Given the description of an element on the screen output the (x, y) to click on. 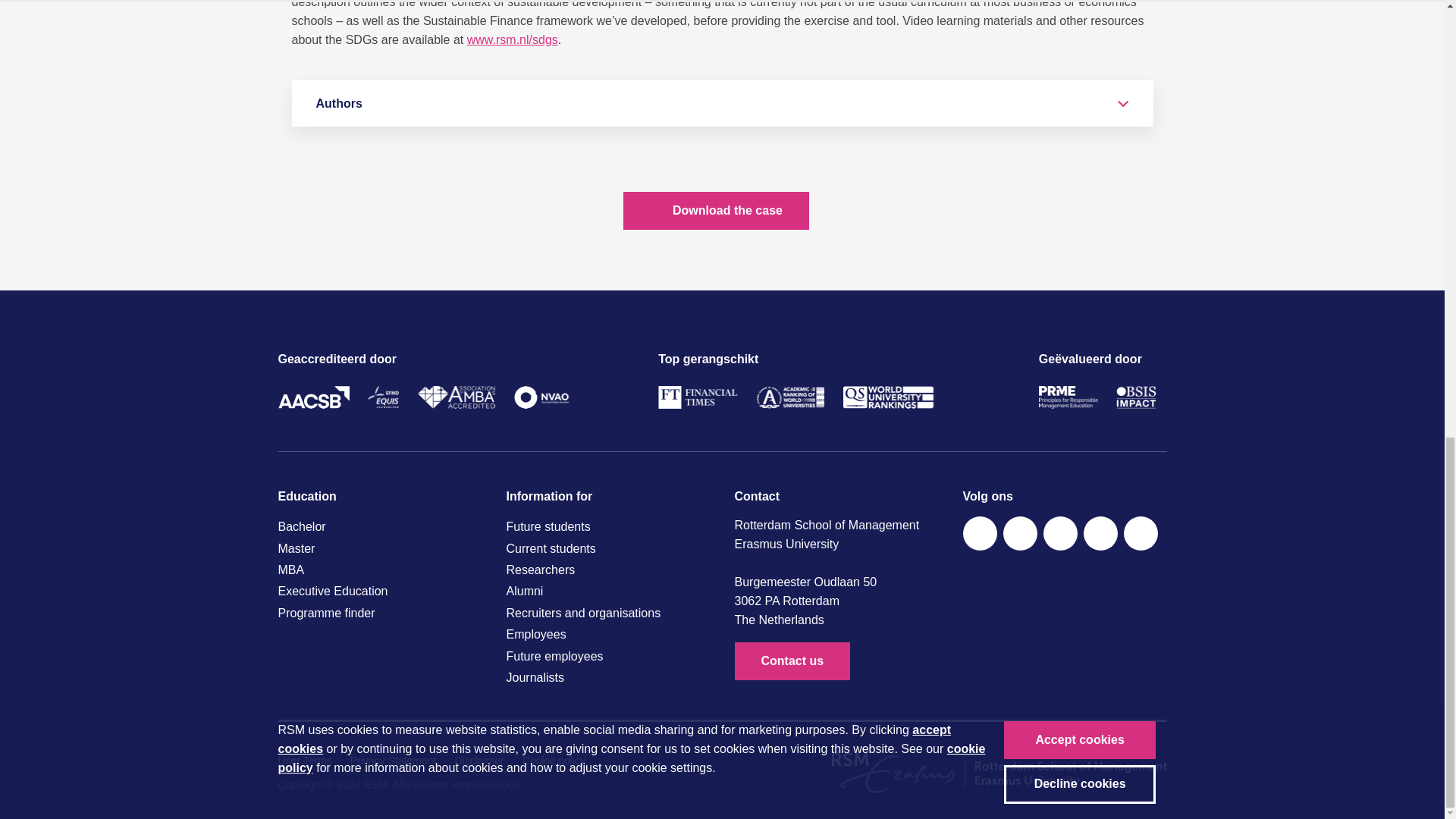
Programme finder (379, 613)
Authors (722, 103)
Bachelor (379, 526)
Future students (608, 526)
Current students (608, 548)
MBA (379, 569)
Executive Education (379, 590)
Researchers (608, 569)
Master (379, 548)
